Given the description of an element on the screen output the (x, y) to click on. 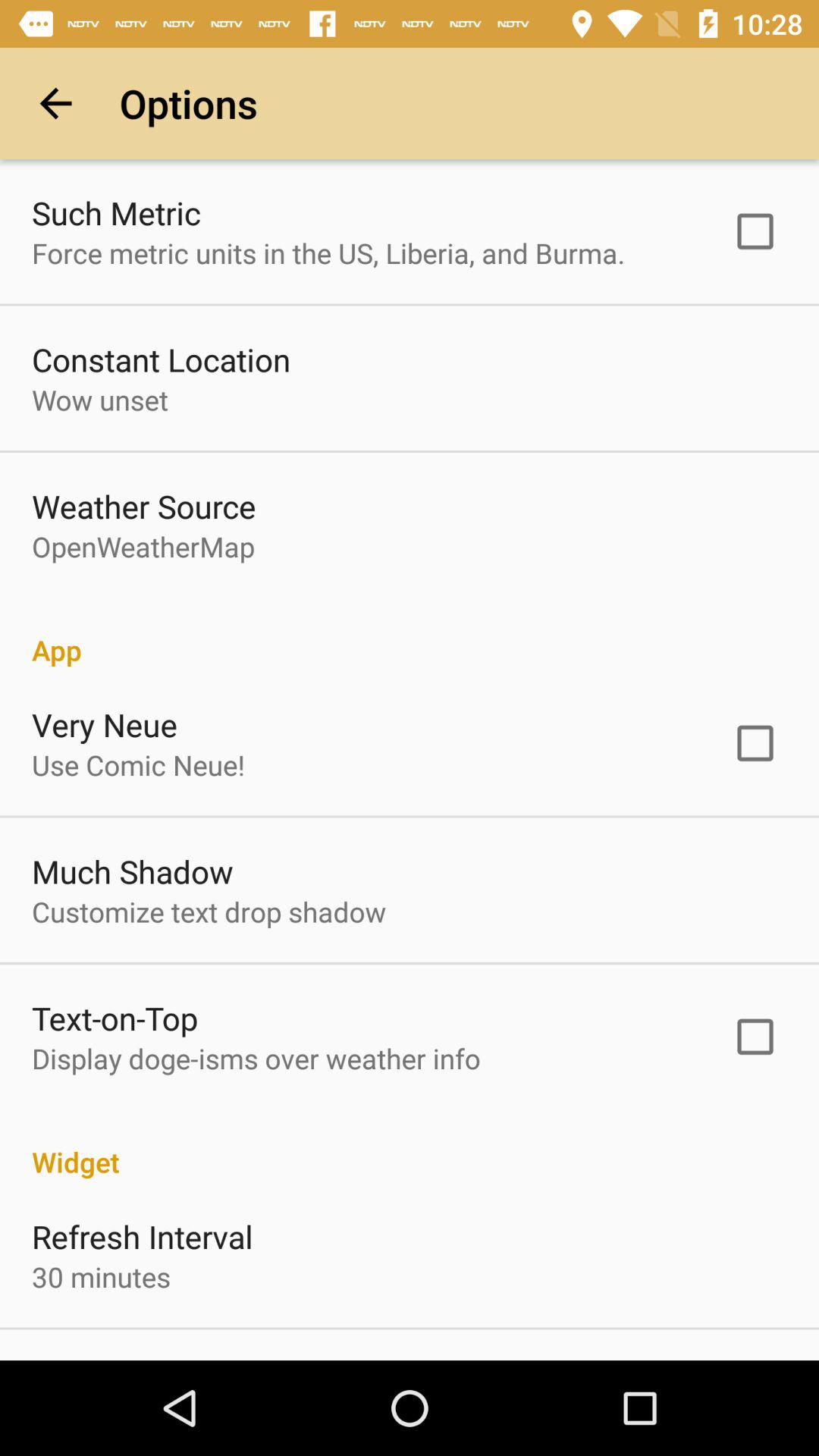
tap app to the left of options item (55, 103)
